Given the description of an element on the screen output the (x, y) to click on. 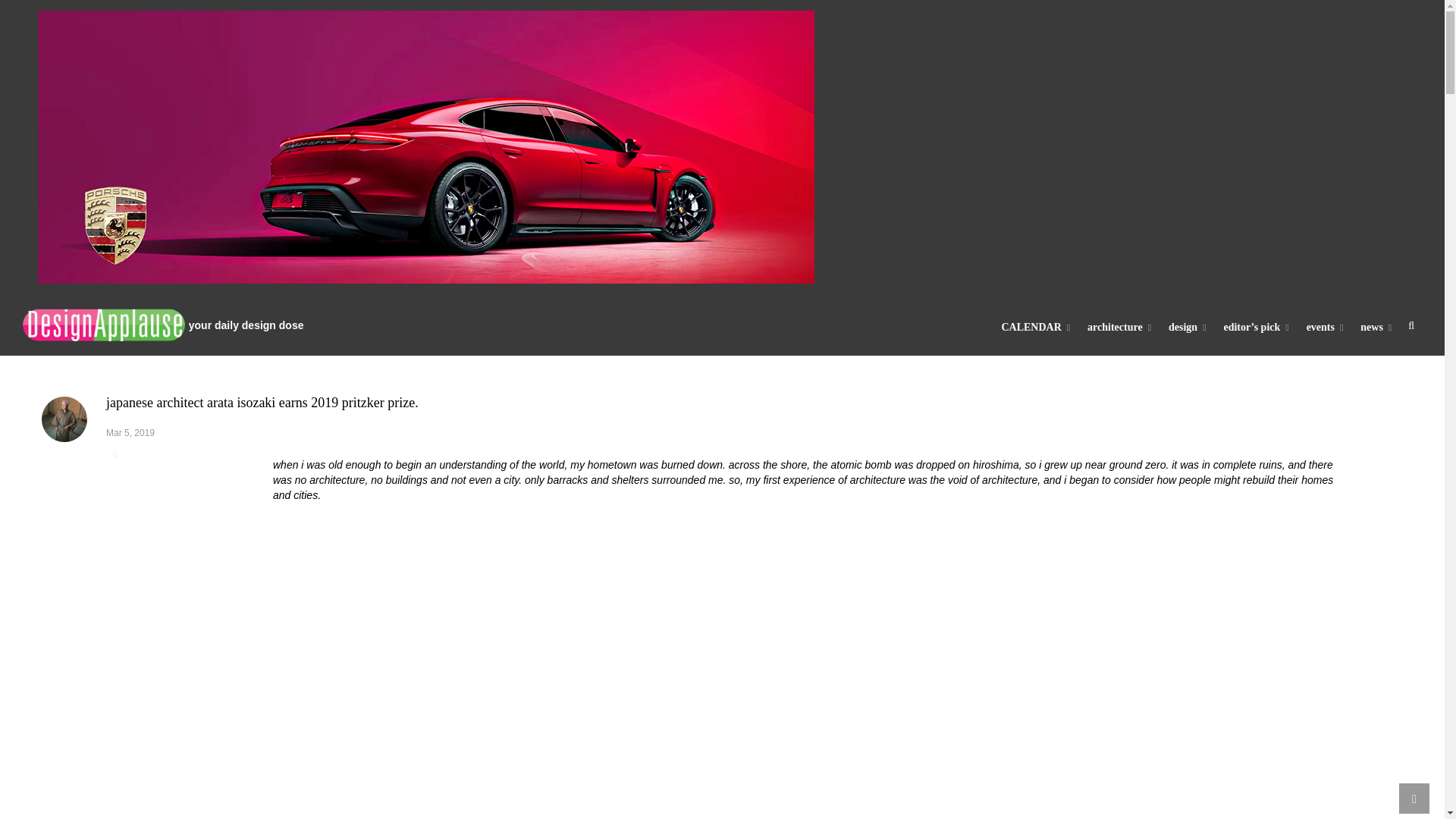
japanese architect arata isozaki earns 2019 pritzker prize. (262, 402)
japanese architect arata isozaki earns 2019 pritzker prize. (63, 419)
